Given the description of an element on the screen output the (x, y) to click on. 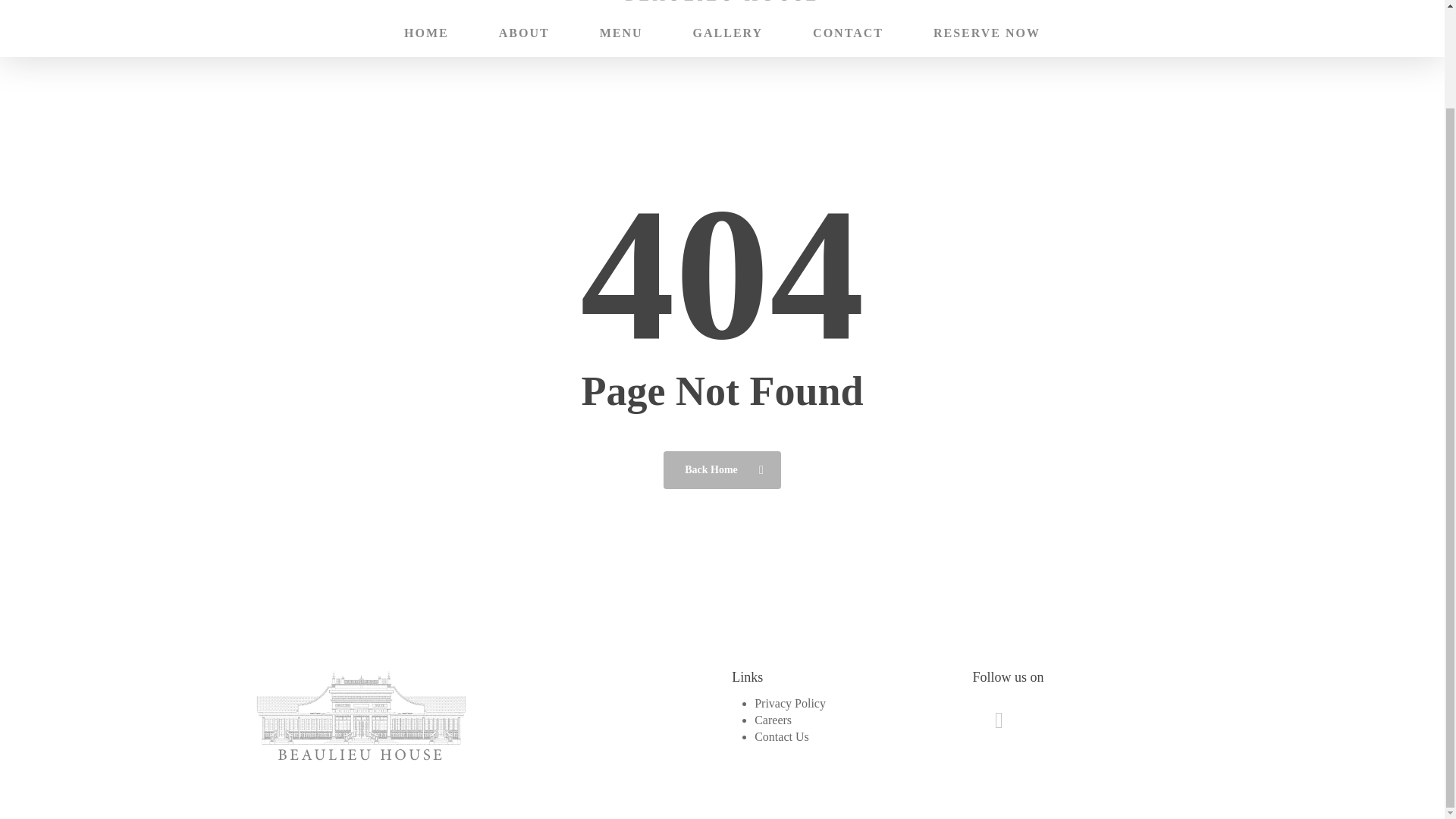
Careers (773, 719)
Back Home (721, 469)
Privacy Policy (789, 703)
HOME (426, 33)
RESERVE NOW (987, 33)
Contact Us (781, 736)
GALLERY (727, 33)
MENU (621, 33)
ABOUT (524, 33)
CONTACT (847, 33)
